Given the description of an element on the screen output the (x, y) to click on. 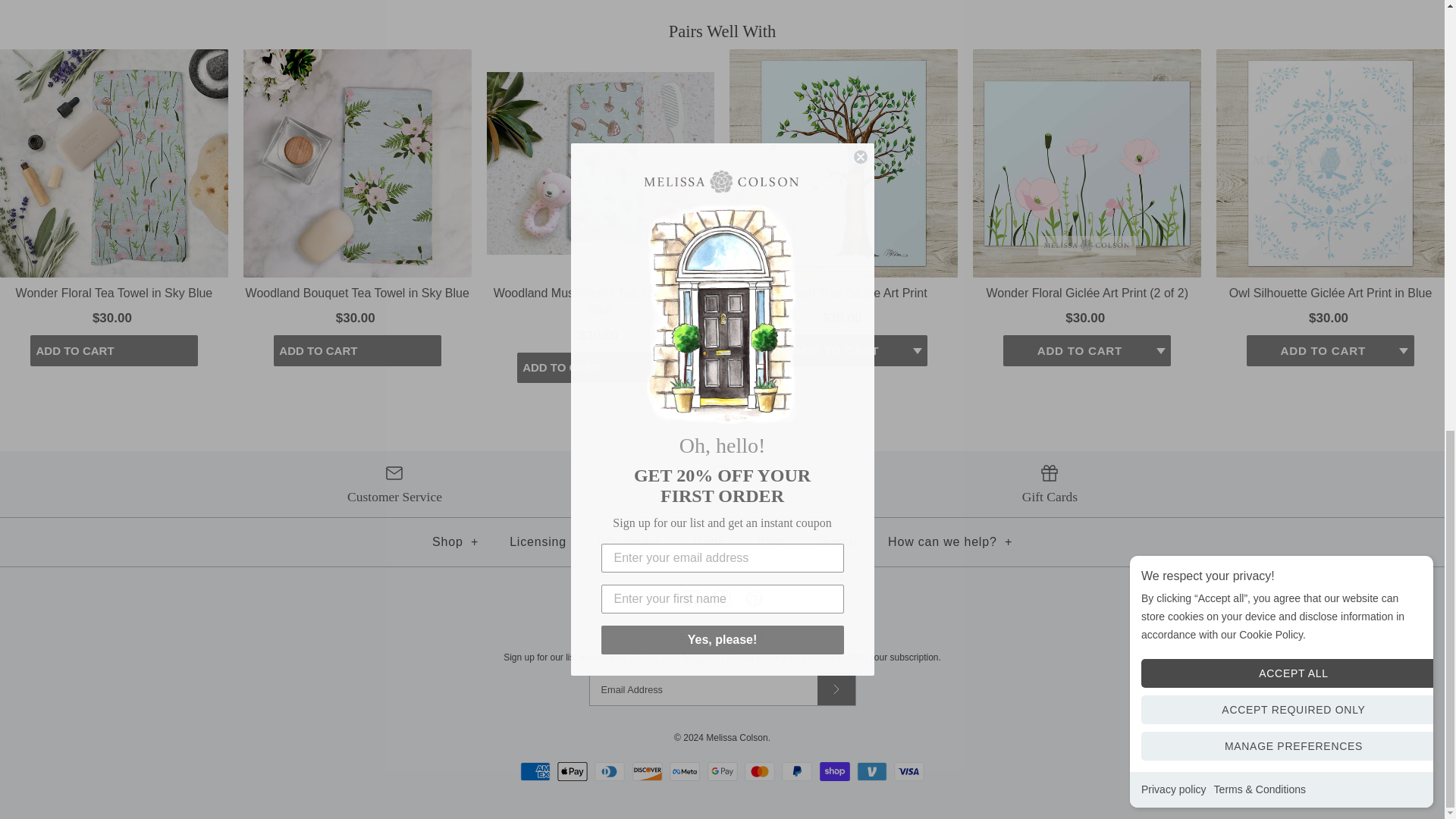
Pinterest (753, 598)
Meta Pay (684, 771)
Discover (646, 771)
Diners Club (609, 771)
Facebook (689, 598)
Apple Pay (572, 771)
Instagram (721, 598)
American Express (534, 771)
